Given the description of an element on the screen output the (x, y) to click on. 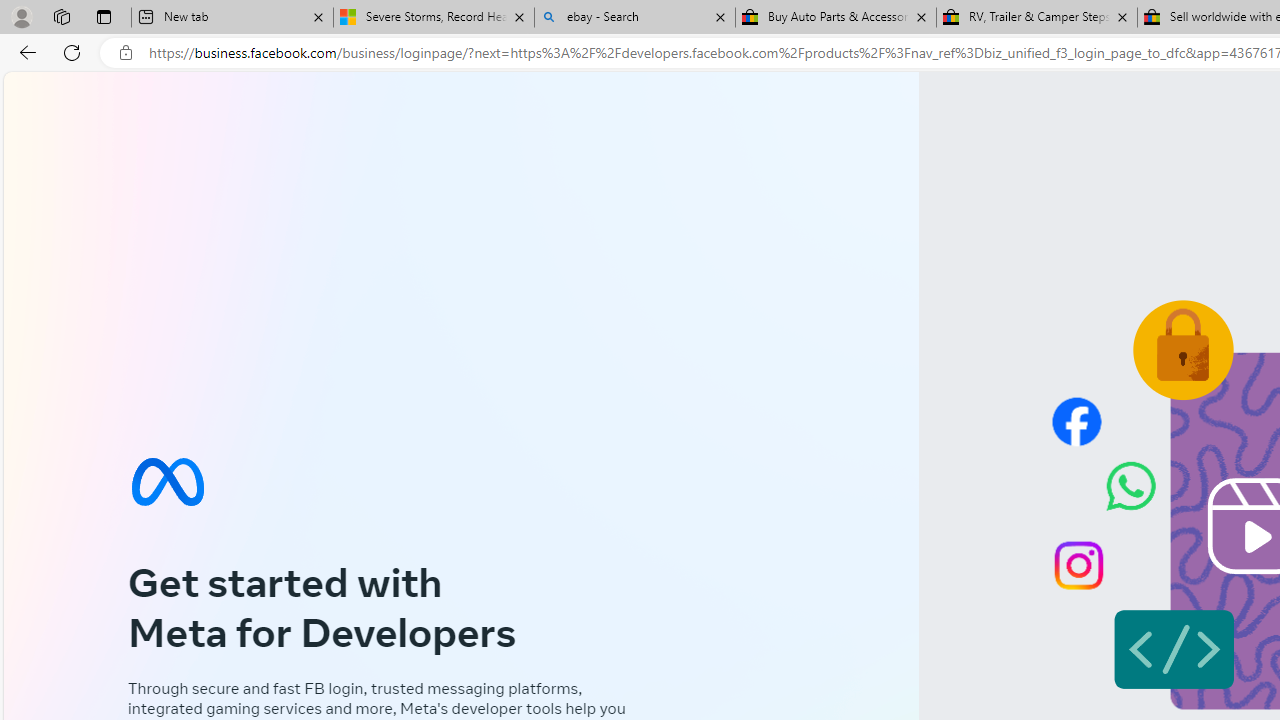
Meta symbol (167, 481)
